Given the description of an element on the screen output the (x, y) to click on. 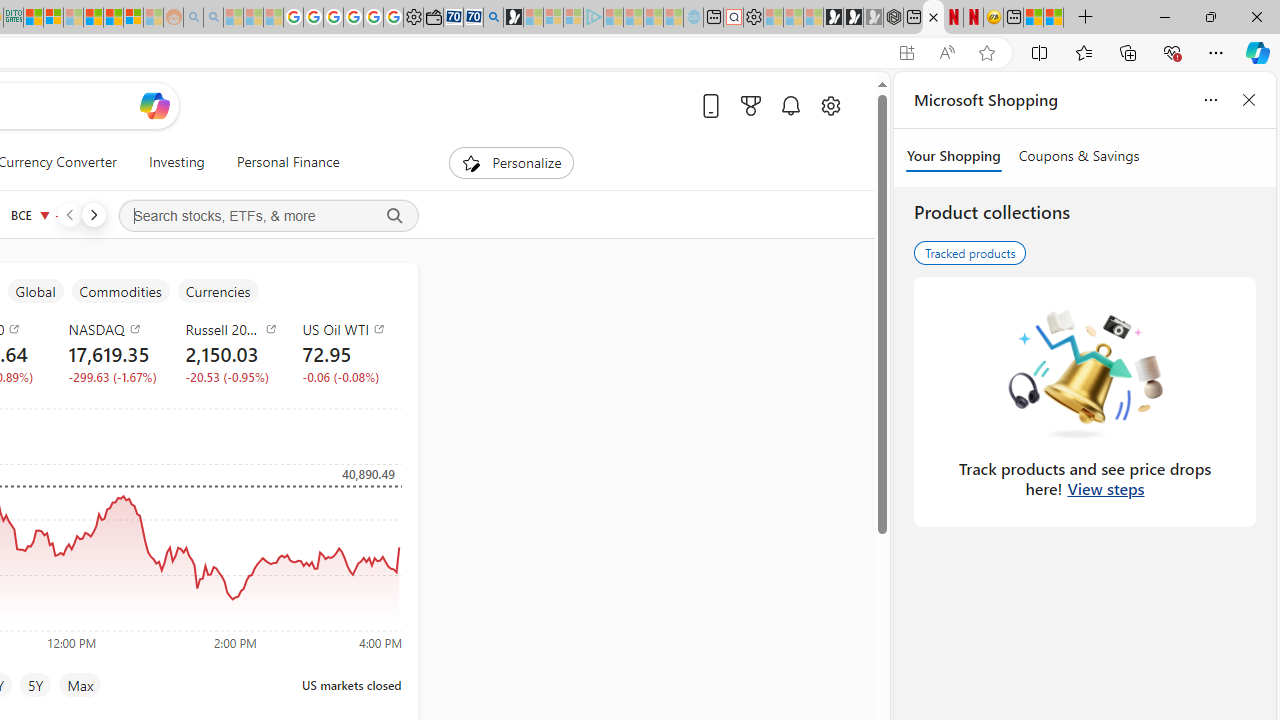
Personal Finance (287, 162)
NASDAQ COMP decrease 17,619.35 -299.63 -1.67% (111, 351)
